Given the description of an element on the screen output the (x, y) to click on. 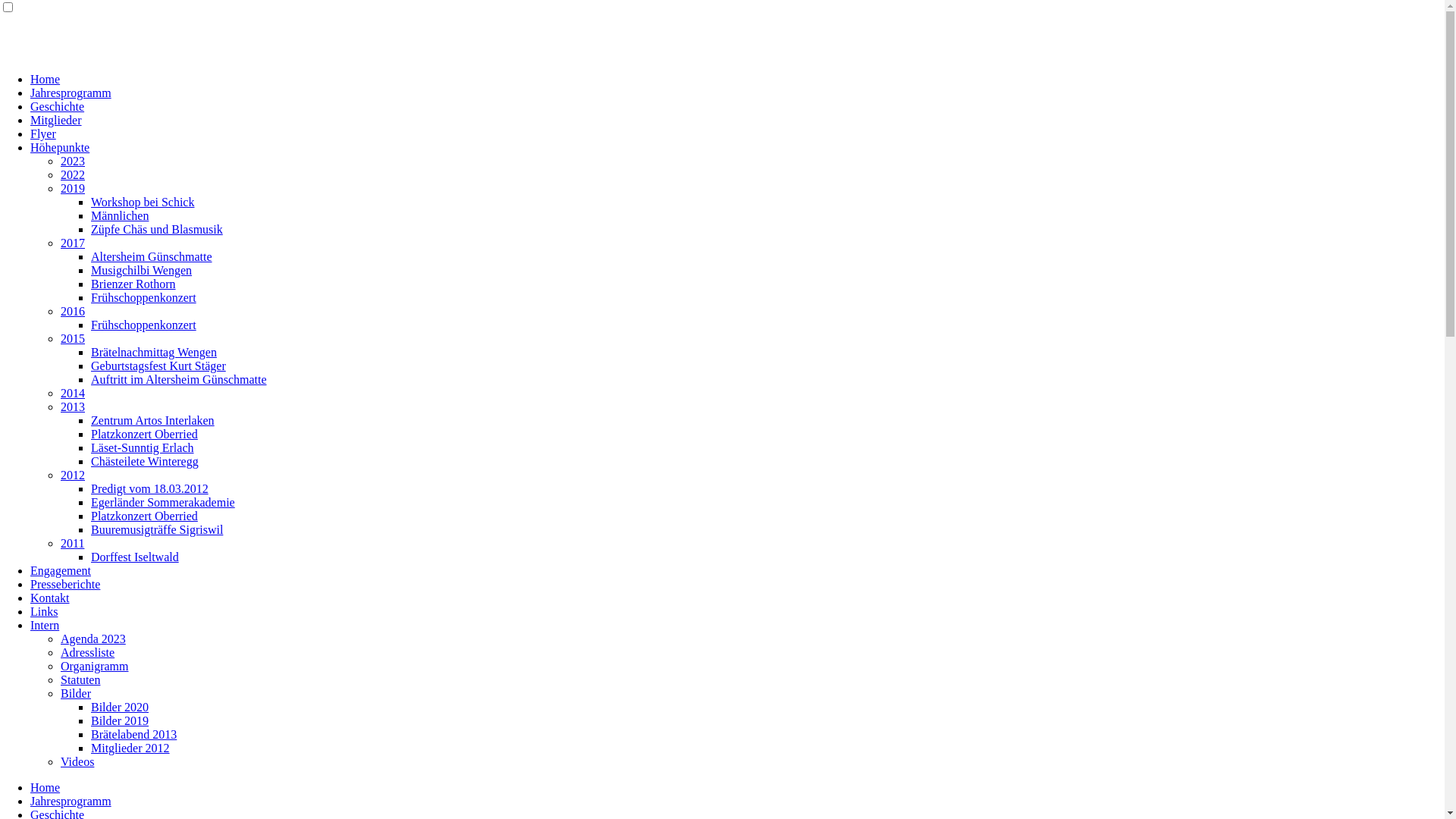
Bilder Element type: text (75, 693)
2013 Element type: text (72, 406)
Home Element type: text (44, 78)
Zentrum Artos Interlaken Element type: text (152, 420)
Mitglieder Element type: text (55, 119)
Bilder 2020 Element type: text (119, 706)
Statuten Element type: text (80, 679)
Jahresprogramm Element type: text (70, 92)
Platzkonzert Oberried Element type: text (144, 433)
Home Element type: text (44, 787)
2014 Element type: text (72, 392)
Engagement Element type: text (60, 570)
Predigt vom 18.03.2012 Element type: text (149, 488)
2022 Element type: text (72, 174)
Agenda 2023 Element type: text (92, 638)
Platzkonzert Oberried Element type: text (144, 515)
Mitglieder 2012 Element type: text (130, 747)
Workshop bei Schick Element type: text (142, 201)
Jahresprogramm Element type: text (70, 800)
Organigramm Element type: text (94, 665)
Dorffest Iseltwald Element type: text (134, 556)
Adressliste Element type: text (87, 652)
Links Element type: text (43, 611)
Musigchilbi Wengen Element type: text (141, 269)
2023 Element type: text (72, 160)
Geschichte Element type: text (57, 106)
Intern Element type: text (44, 624)
Flyer Element type: text (43, 133)
2017 Element type: text (72, 242)
Brienzer Rothorn Element type: text (133, 283)
Videos Element type: text (77, 761)
Kontakt Element type: text (49, 597)
Presseberichte Element type: text (65, 583)
2012 Element type: text (72, 474)
2016 Element type: text (72, 310)
2011 Element type: text (72, 542)
2019 Element type: text (72, 188)
2015 Element type: text (72, 338)
Bilder 2019 Element type: text (119, 720)
